Given the description of an element on the screen output the (x, y) to click on. 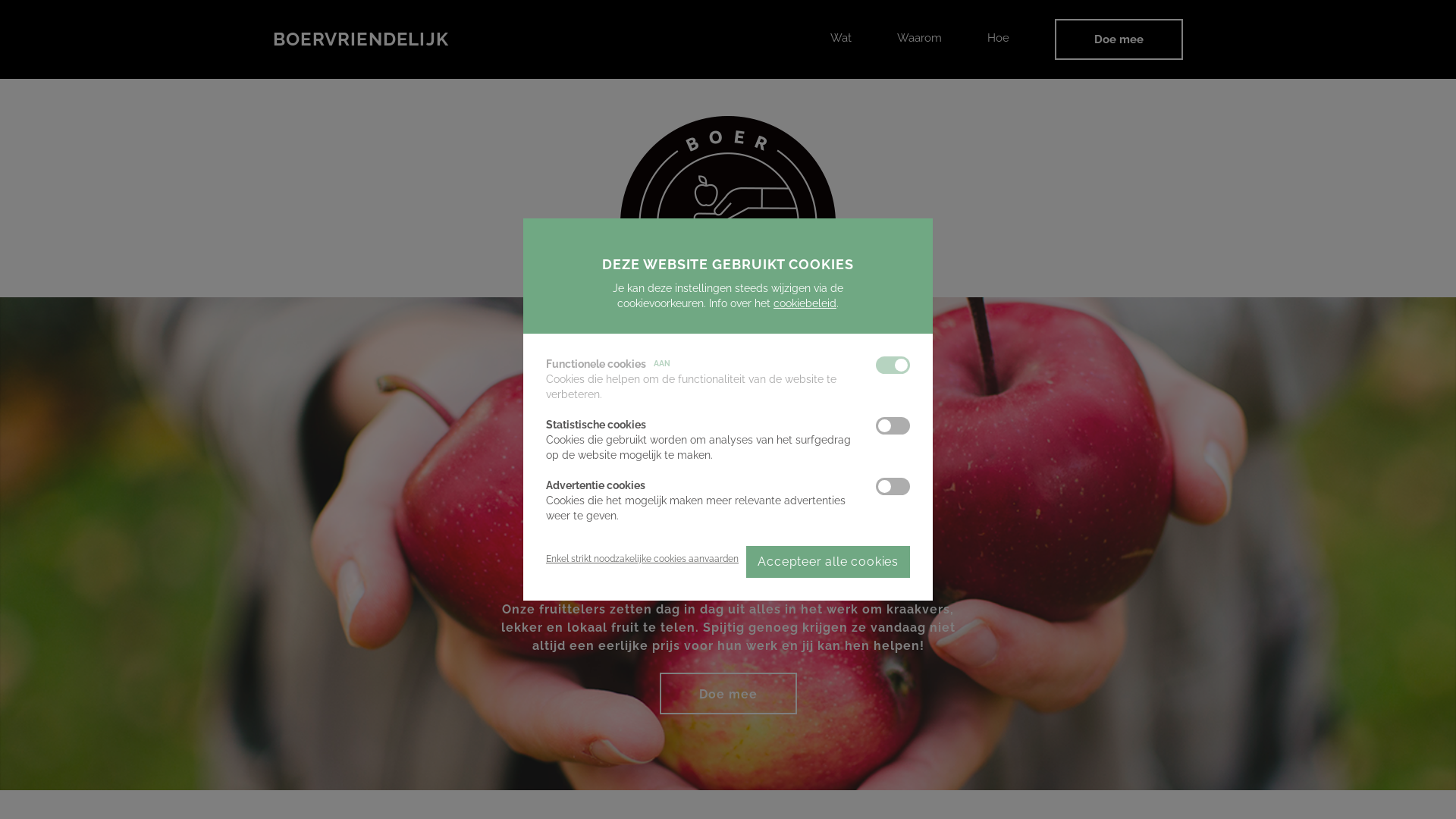
cookiebeleid Element type: text (804, 303)
Accepteer alle cookies Element type: text (828, 561)
Wat Element type: text (840, 37)
Waarom Element type: text (919, 37)
Hoe Element type: text (998, 37)
Enkel strikt noodzakelijke cookies aanvaarden Element type: text (642, 558)
Doe mee Element type: text (1118, 38)
Doe mee Element type: text (728, 693)
